Given the description of an element on the screen output the (x, y) to click on. 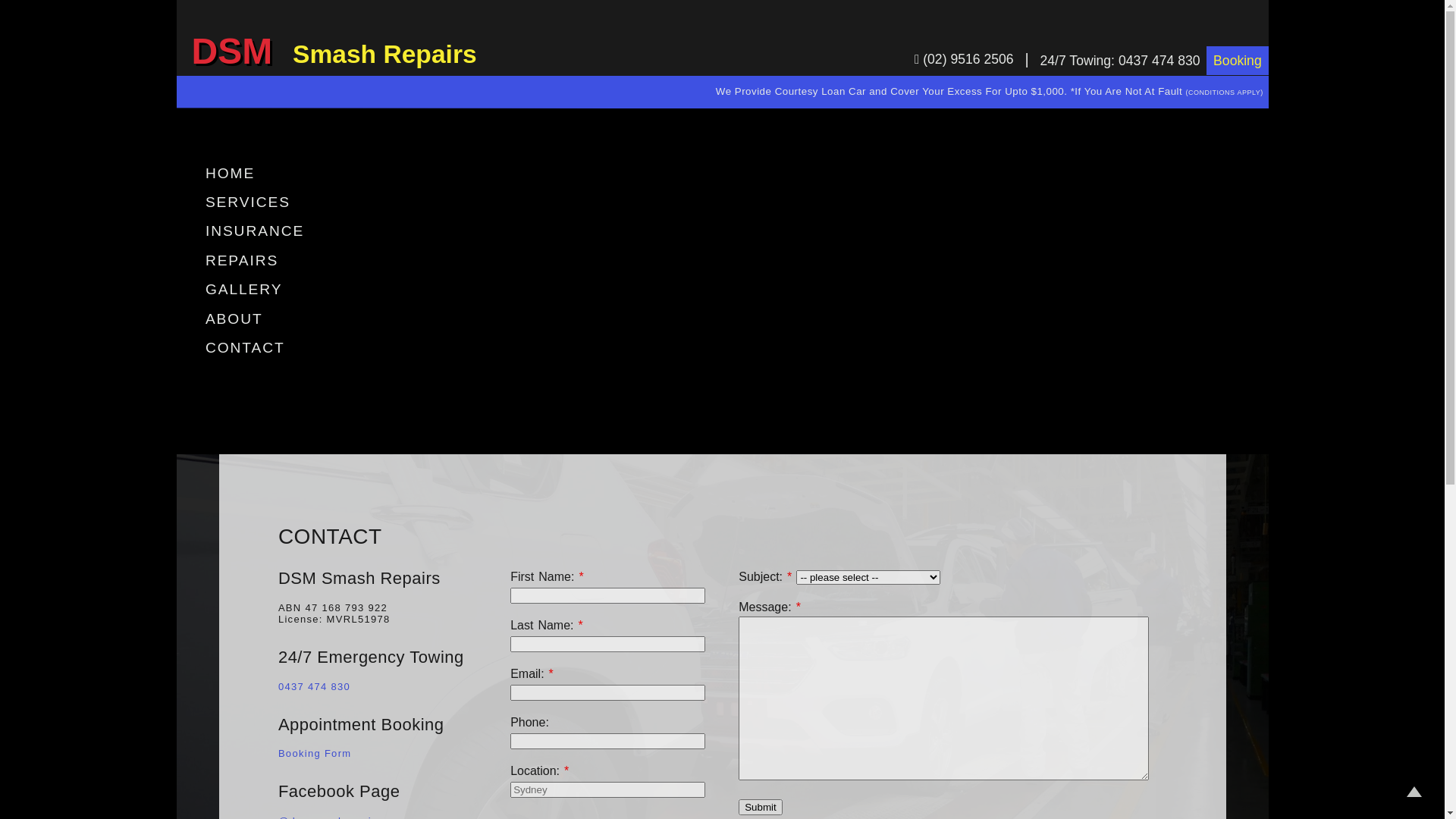
GALLERY Element type: text (243, 288)
SERVICES Element type: text (247, 201)
HOME Element type: text (229, 172)
Submit Element type: text (759, 807)
Booking Element type: text (1236, 60)
ABOUT Element type: text (233, 318)
Booking Form Element type: text (314, 753)
INSURANCE Element type: text (253, 230)
0437 474 830 Element type: text (314, 686)
24/7 Towing: 0437 474 830 Element type: text (1120, 60)
REPAIRS Element type: text (241, 259)
CONTACT Element type: text (244, 347)
